Given the description of an element on the screen output the (x, y) to click on. 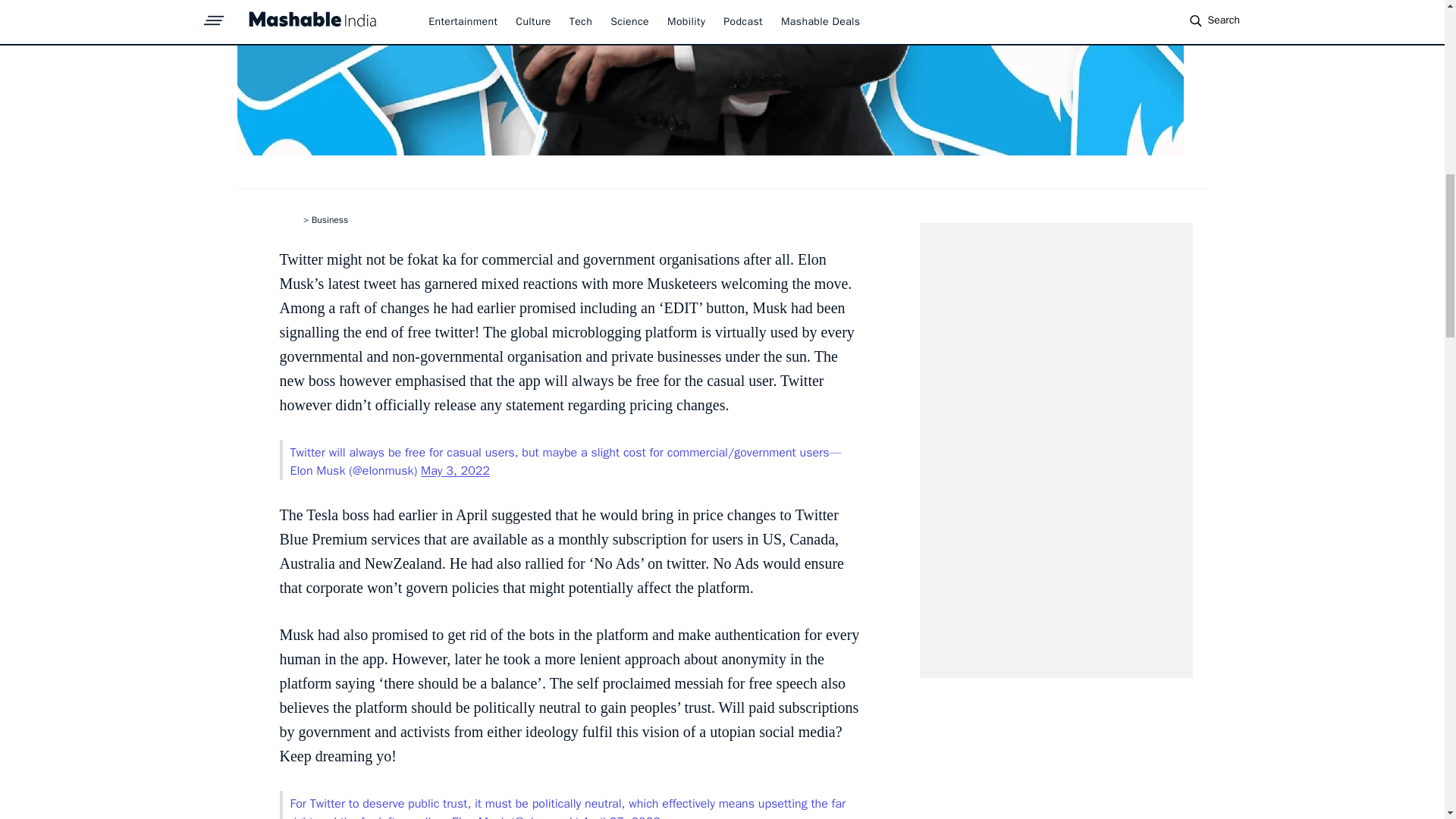
May 3, 2022 (454, 470)
April 27, 2022 (622, 816)
